Given the description of an element on the screen output the (x, y) to click on. 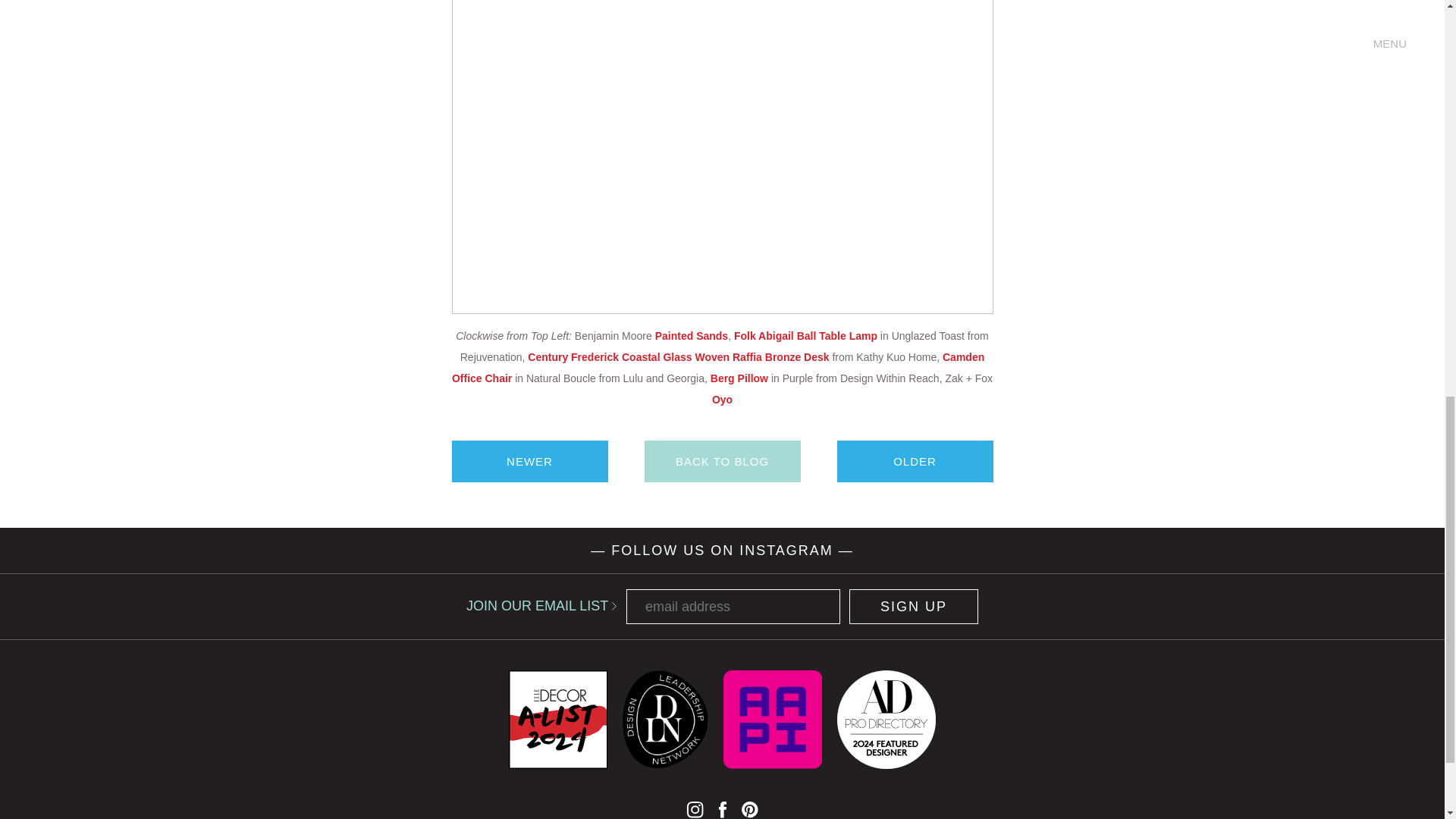
Century Frederick Coastal Glass Woven Raffia Bronze Desk (677, 357)
email (733, 606)
Oyo (721, 399)
NEWER (529, 461)
OLDER (914, 461)
Camden Office Chair (717, 367)
Berg Pillow (739, 378)
BACK TO BLOG (722, 461)
Folk Abigail Ball Table Lamp (805, 336)
Painted Sands (691, 336)
